Given the description of an element on the screen output the (x, y) to click on. 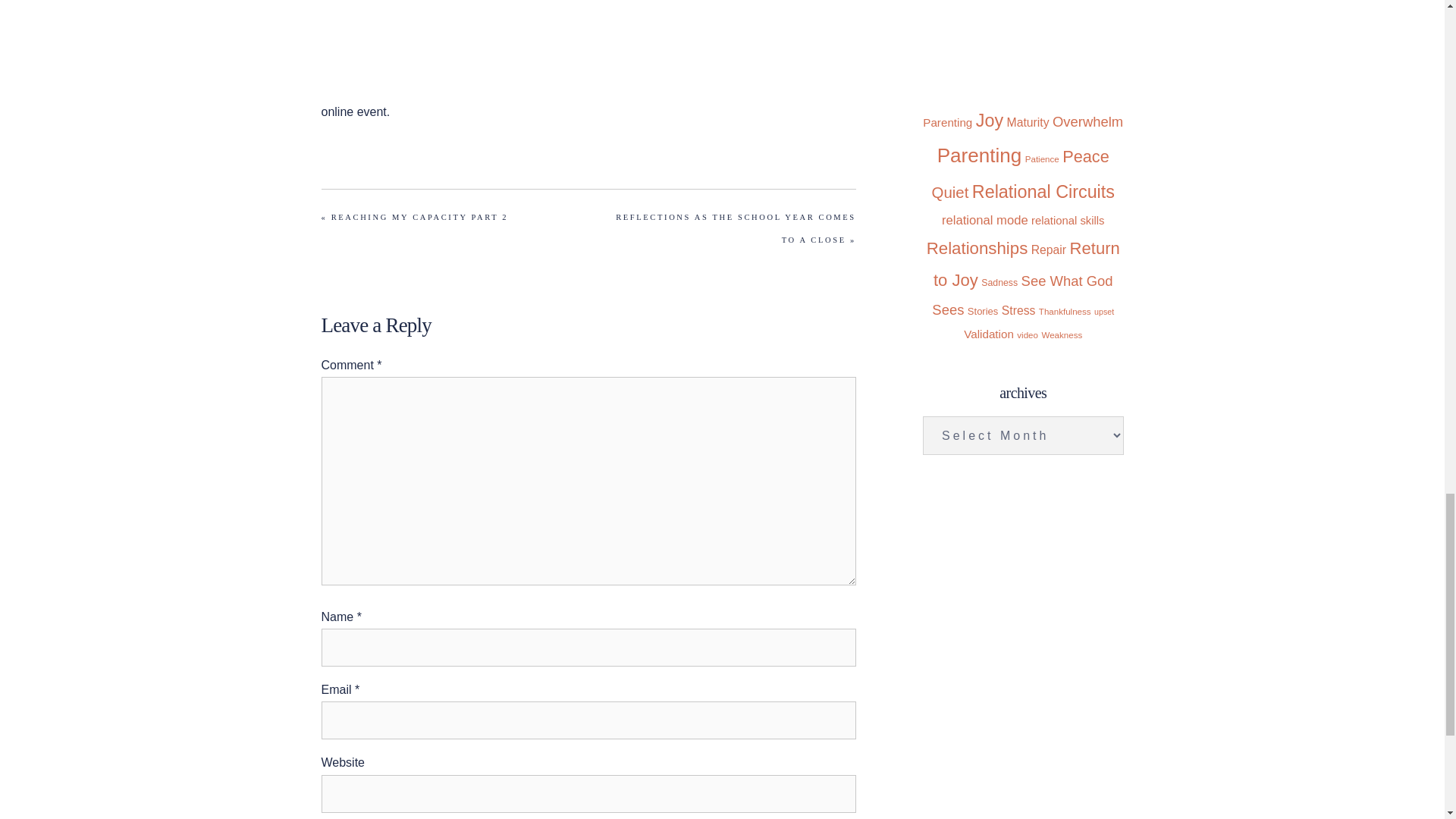
Youtube (345, 3)
Discipline (989, 31)
Children (1019, 1)
Encouragement for Maxed out Moms (650, 88)
connection (949, 31)
Facebook (408, 3)
